Given the description of an element on the screen output the (x, y) to click on. 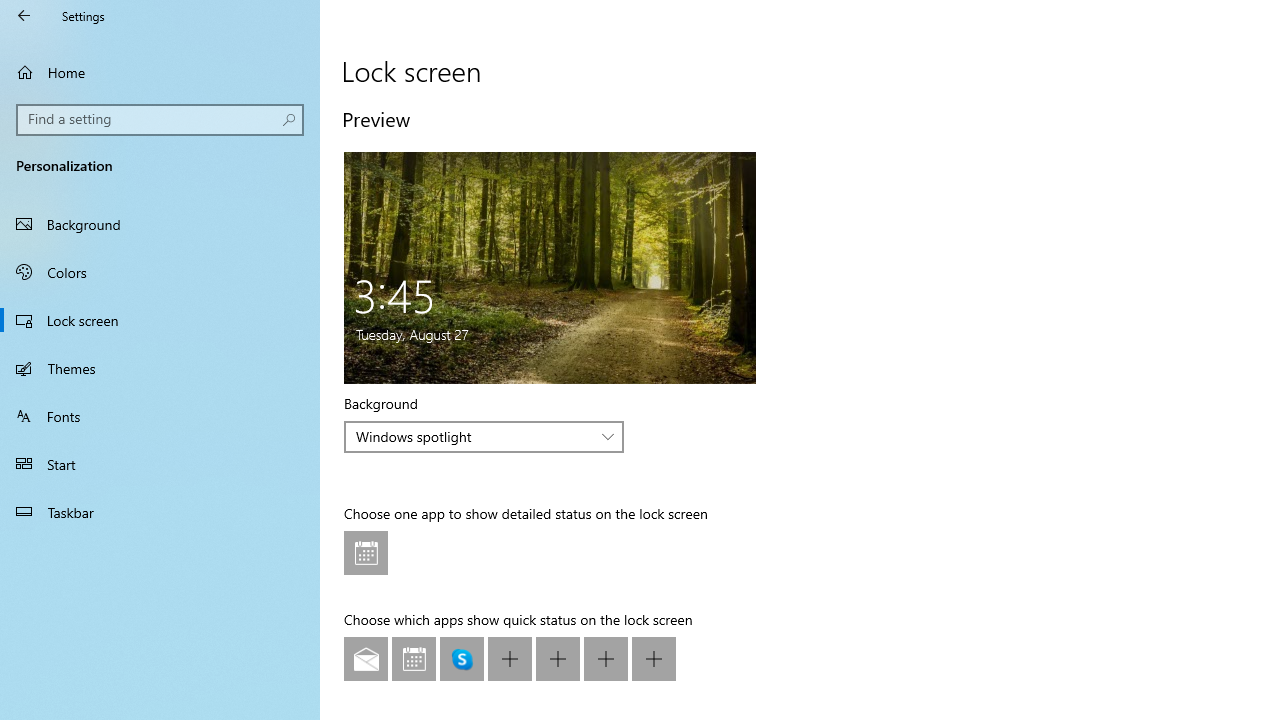
Taskbar (160, 511)
Lock screen app tile status at position 1 (365, 553)
Background (484, 436)
None (653, 659)
Themes (160, 367)
Calendar (413, 659)
